Given the description of an element on the screen output the (x, y) to click on. 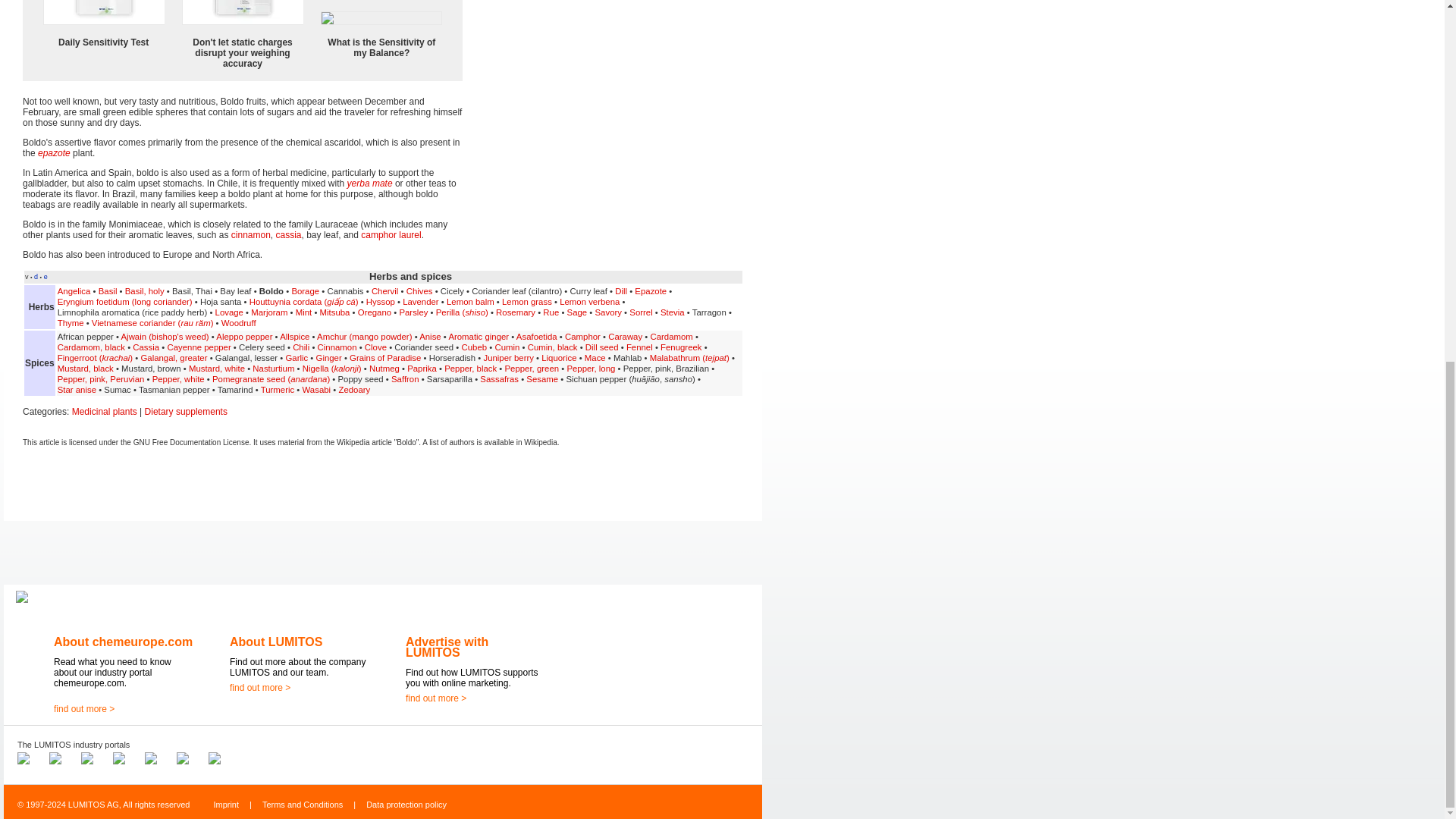
Basil, holy (144, 290)
Basil (108, 290)
epazote (53, 153)
cassia (288, 235)
Ocimum tenuiflorum (144, 290)
Borage (304, 290)
yerba mate (370, 183)
Garden angelica (74, 290)
Angelica (74, 290)
Chives (419, 290)
Cassia (288, 235)
Epazote (53, 153)
Yerba mate (370, 183)
Don't let static charges disrupt your weighing accuracy (242, 52)
Borage (304, 290)
